Given the description of an element on the screen output the (x, y) to click on. 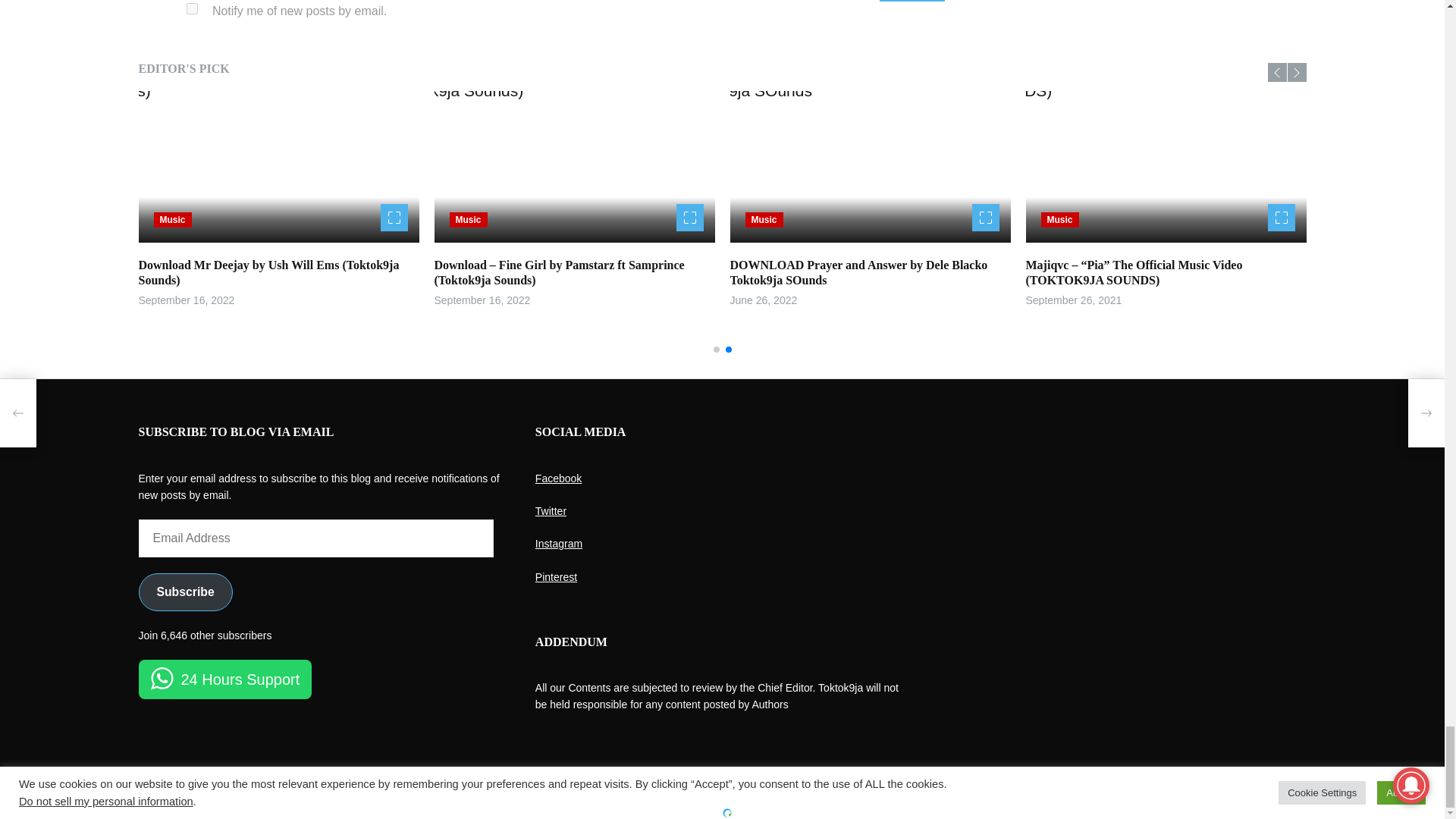
Submit (911, 0)
subscribe (192, 8)
